Given the description of an element on the screen output the (x, y) to click on. 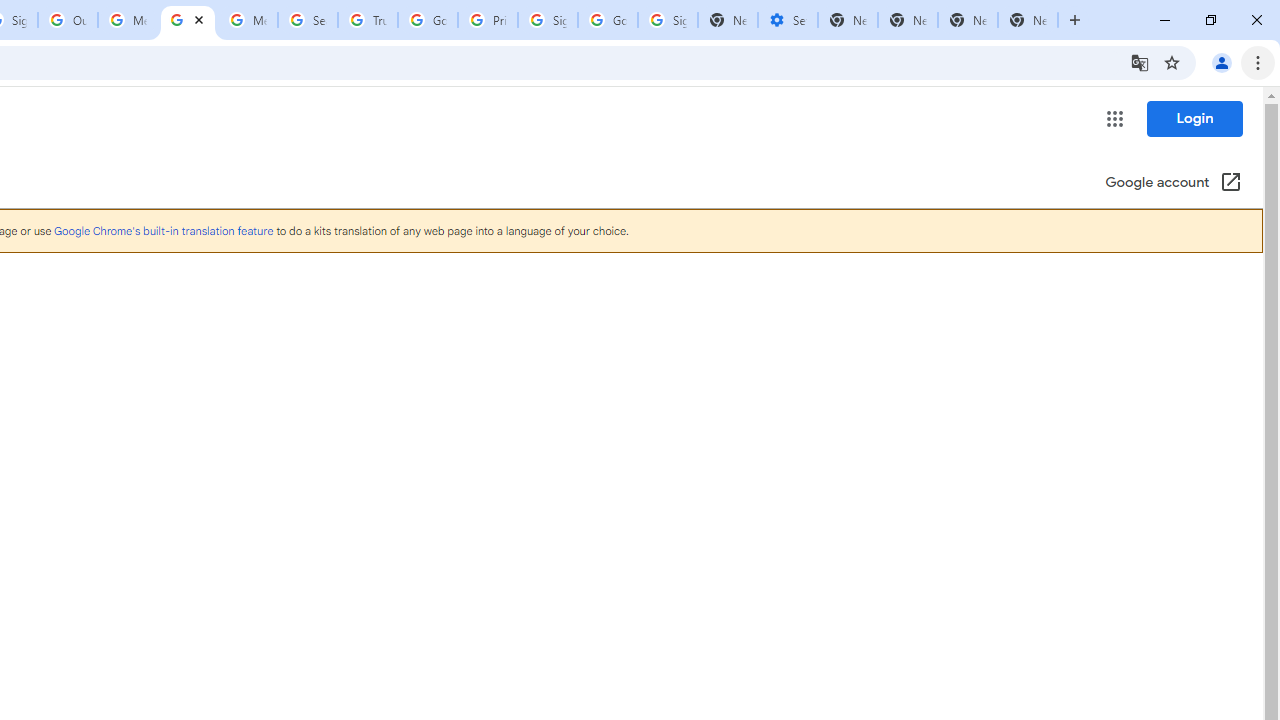
Google Chrome's built-in translation feature (163, 230)
Google Ads - Sign in (428, 20)
New Tab (968, 20)
New Tab (847, 20)
New Tab (1028, 20)
Search our Doodle Library Collection - Google Doodles (307, 20)
Sign in - Google Accounts (548, 20)
Translate this page (1139, 62)
Sign in - Google Accounts (667, 20)
